Given the description of an element on the screen output the (x, y) to click on. 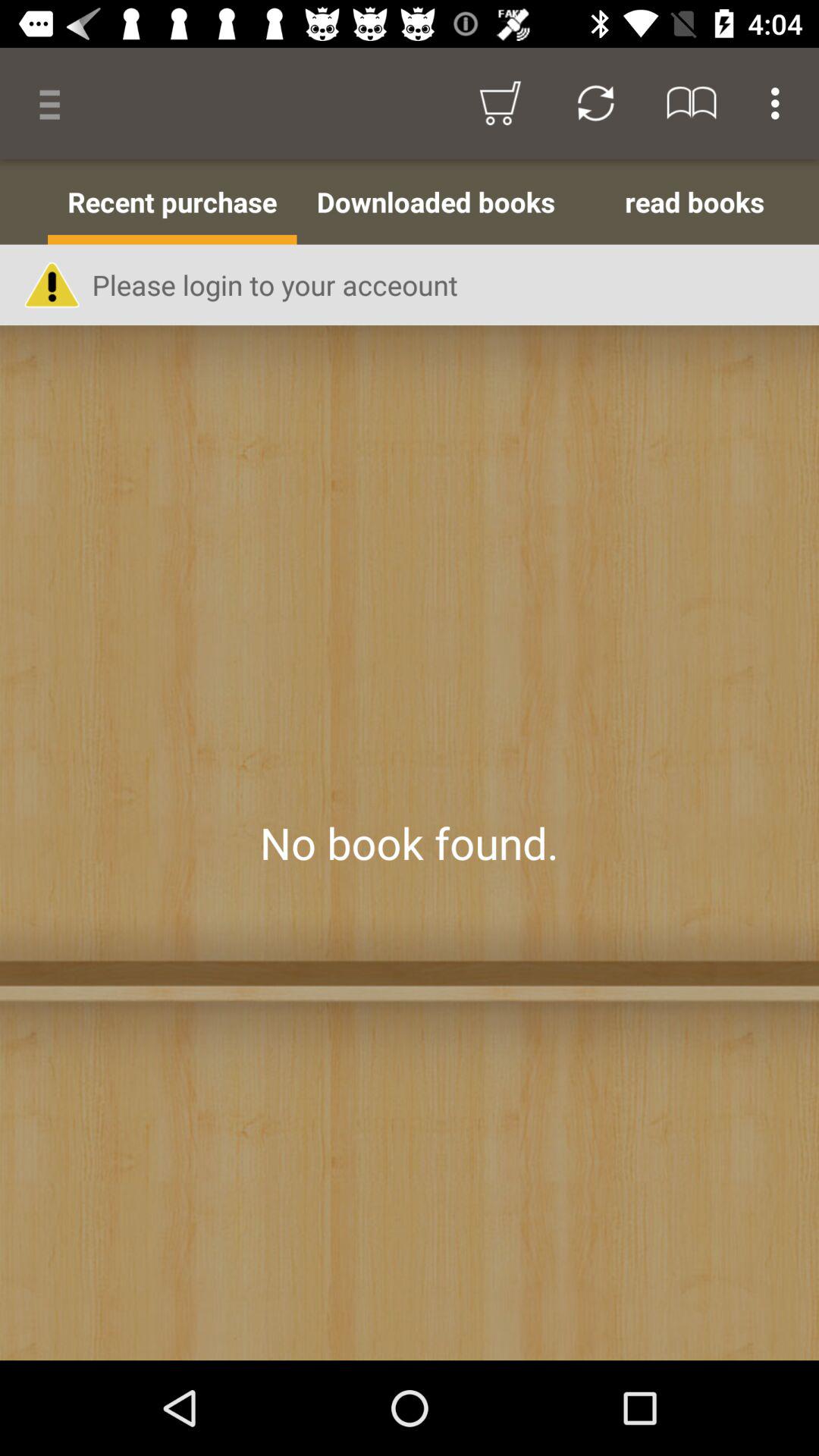
swipe until the recent purchase item (171, 201)
